Given the description of an element on the screen output the (x, y) to click on. 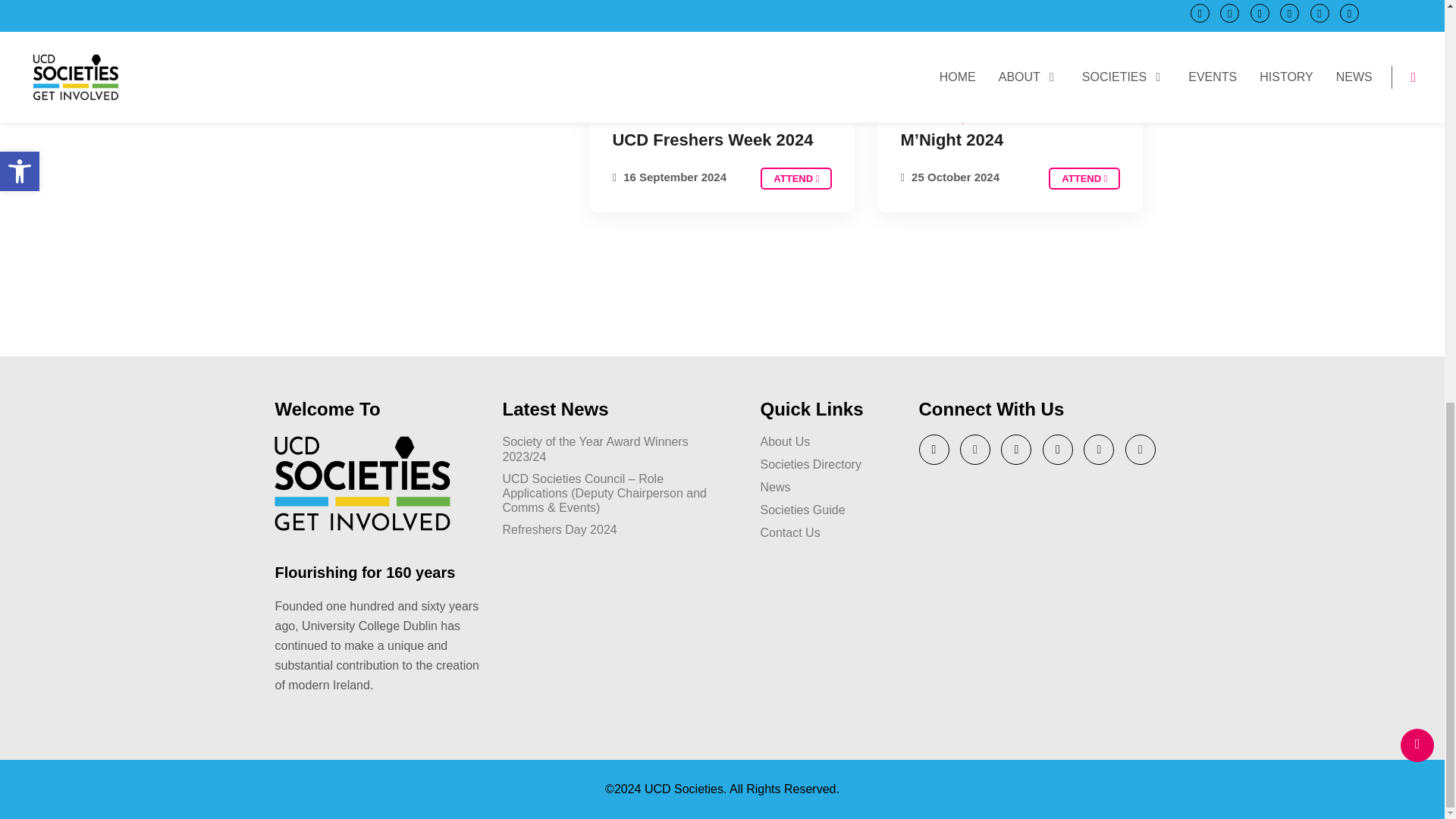
UCD Freshers Week 2024 (795, 178)
